Given the description of an element on the screen output the (x, y) to click on. 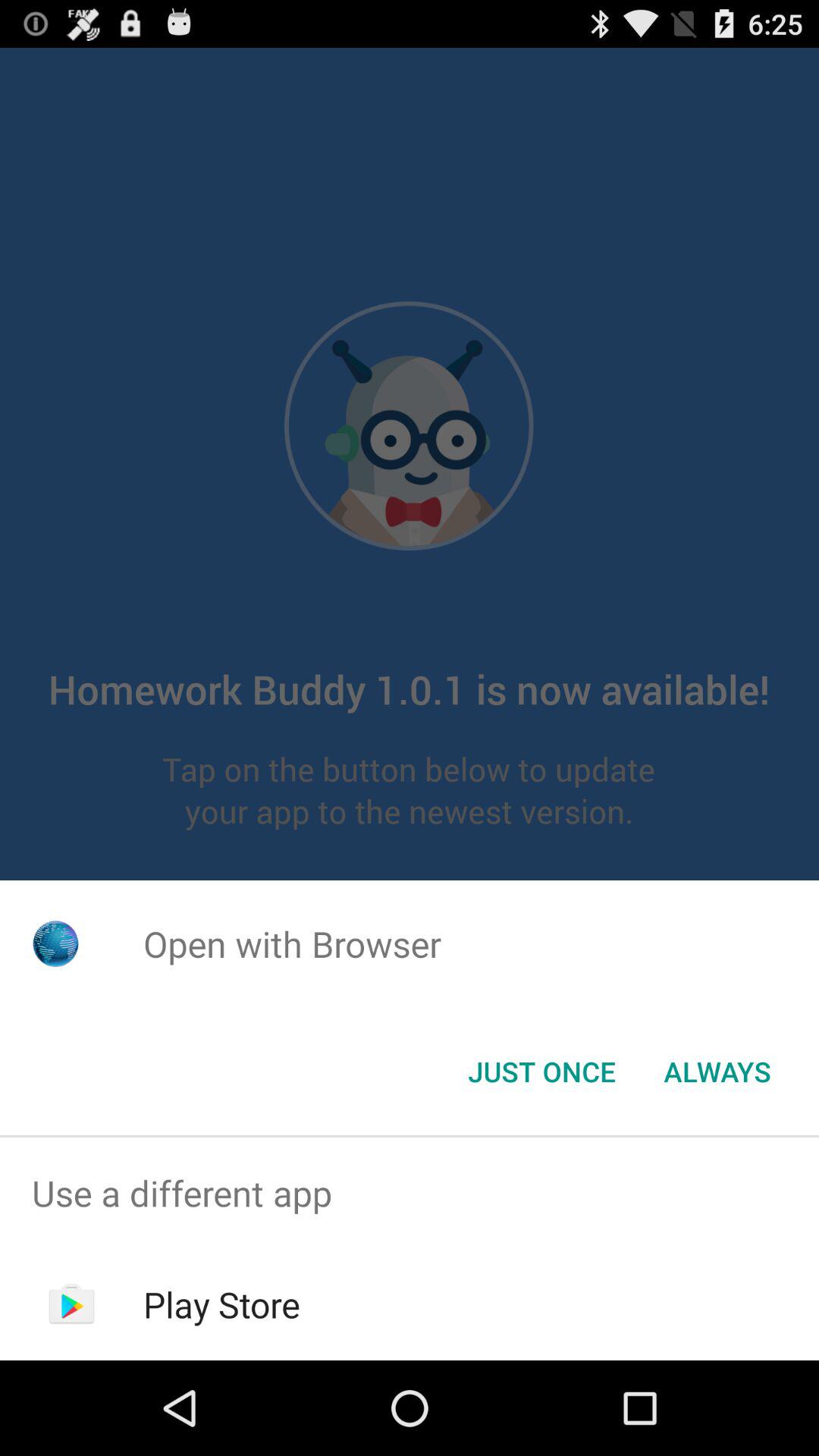
press the use a different item (409, 1192)
